Given the description of an element on the screen output the (x, y) to click on. 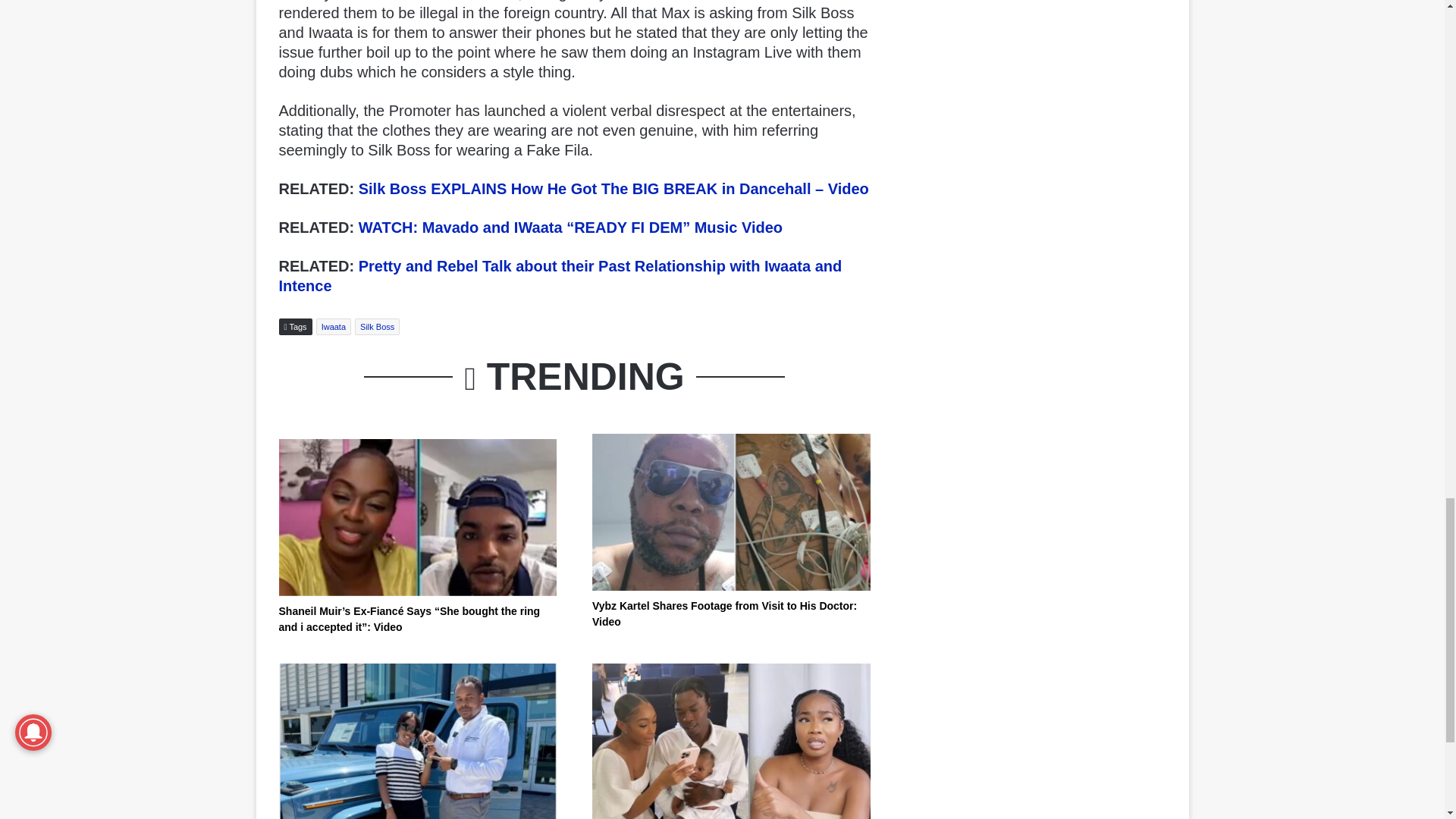
Silk Boss (376, 326)
Iwaata (332, 326)
